Given the description of an element on the screen output the (x, y) to click on. 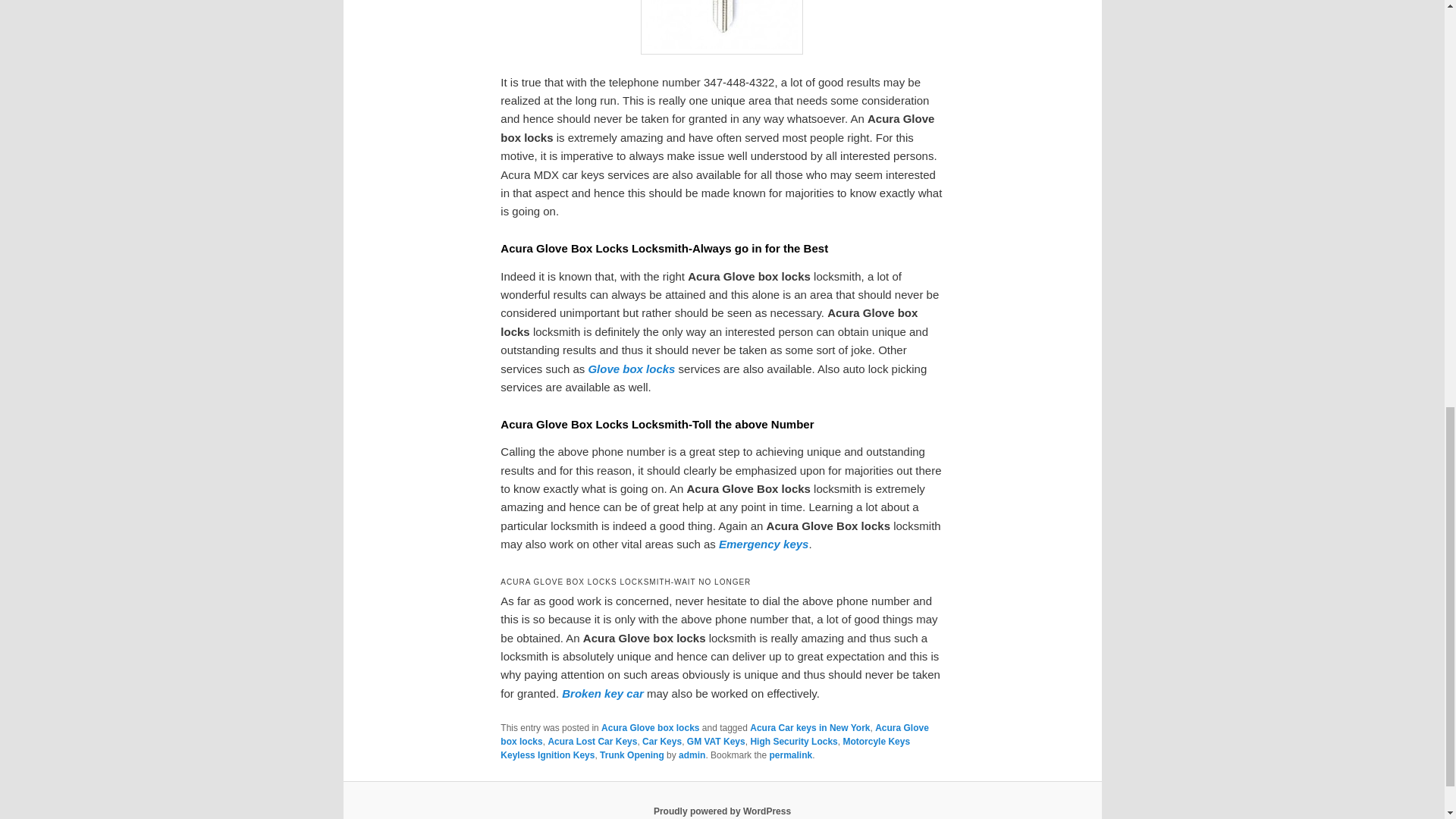
Acura Car keys in New York (809, 727)
Proudly powered by WordPress (721, 810)
Motorcyle Keys Keyless Ignition Keys (705, 748)
Permalink to Acura Glove Box Locks (790, 755)
High Security Locks (793, 741)
Broken key car (602, 693)
permalink (790, 755)
Acura Glove box locks (714, 734)
GM VAT Keys (716, 741)
Glove box locks (631, 368)
